Given the description of an element on the screen output the (x, y) to click on. 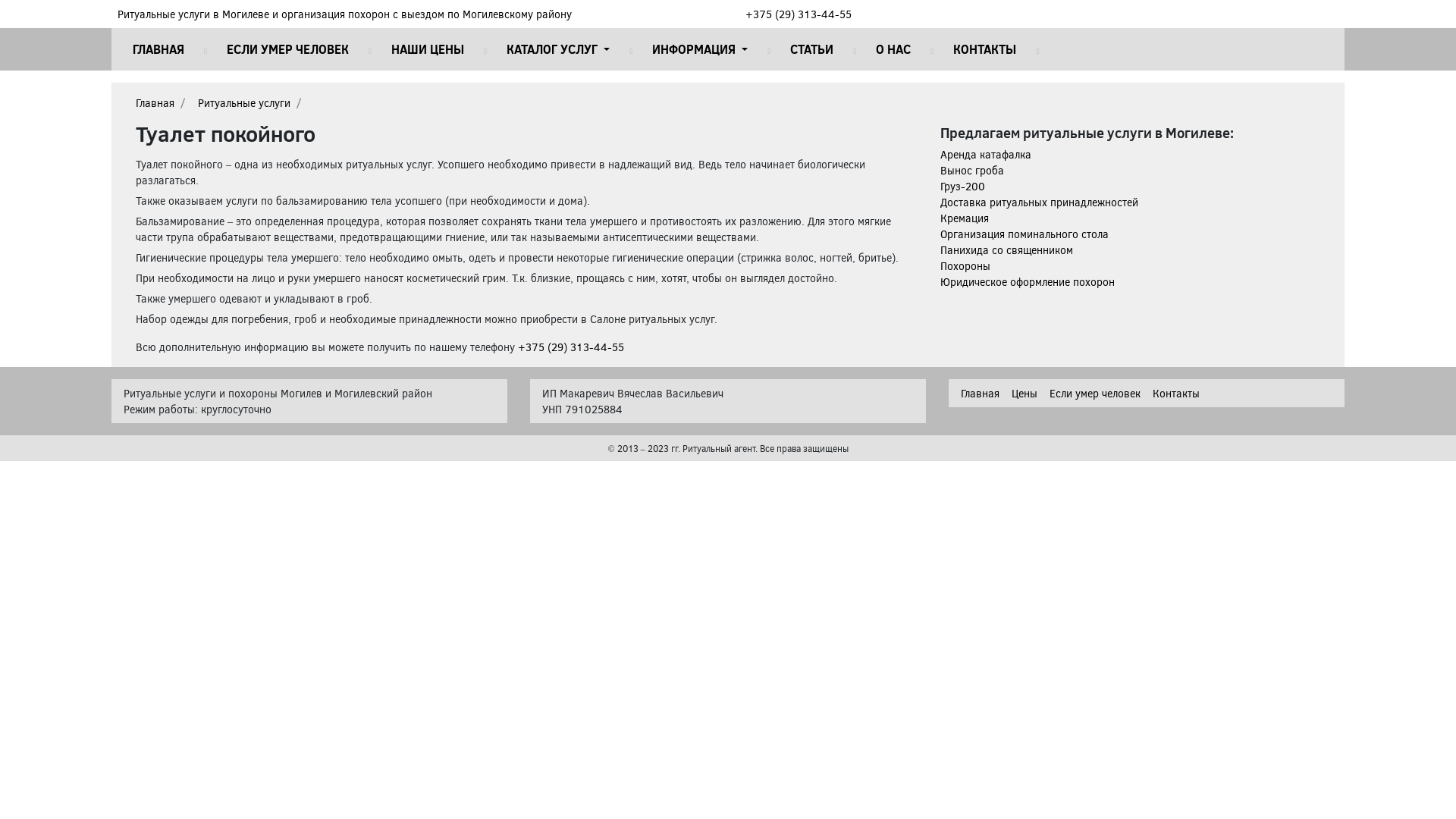
+375 (29) 313-44-55 Element type: text (570, 346)
+375 (29) 313-44-55 Element type: text (798, 13)
